Given the description of an element on the screen output the (x, y) to click on. 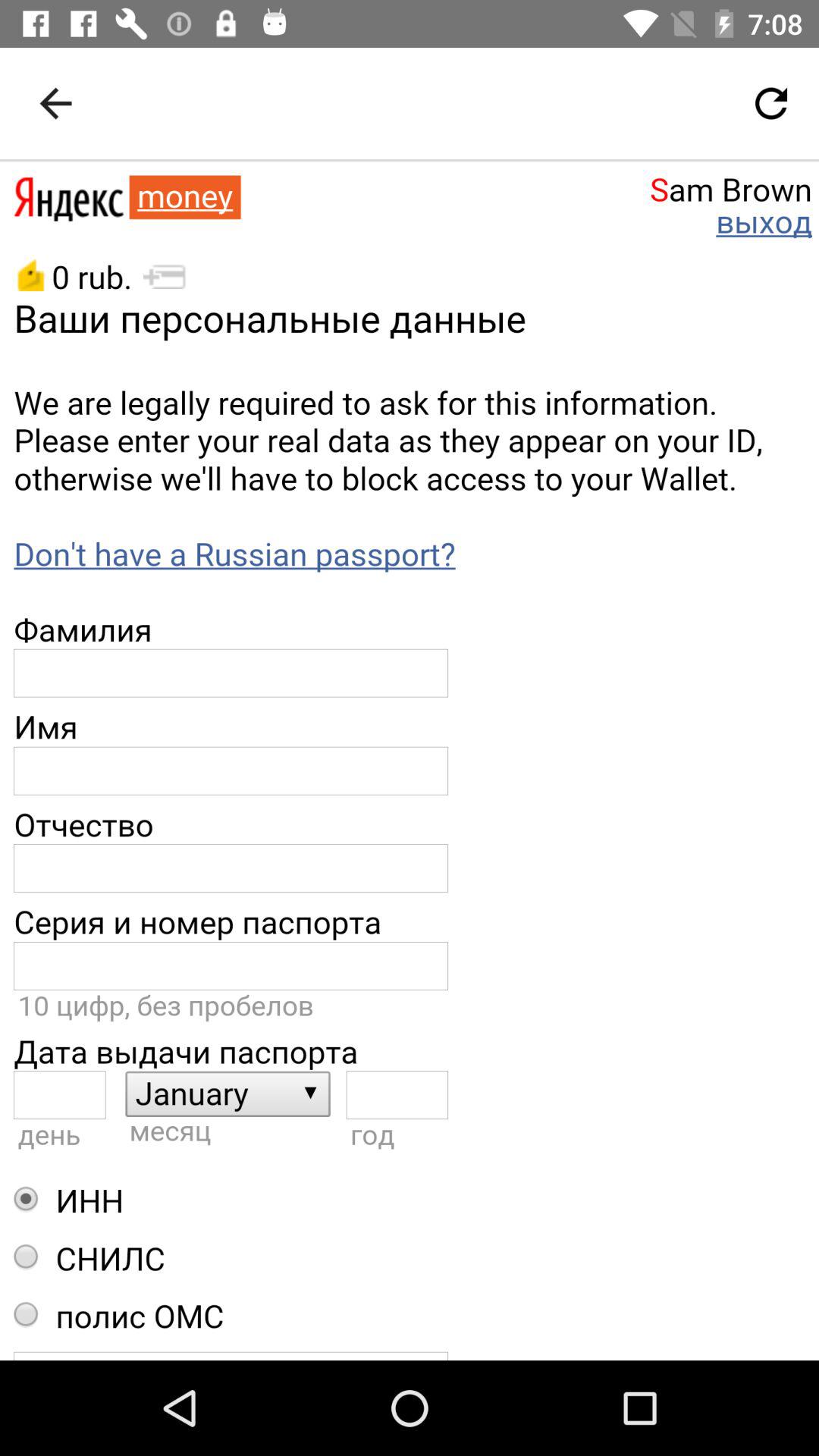
profile submit (409, 760)
